Given the description of an element on the screen output the (x, y) to click on. 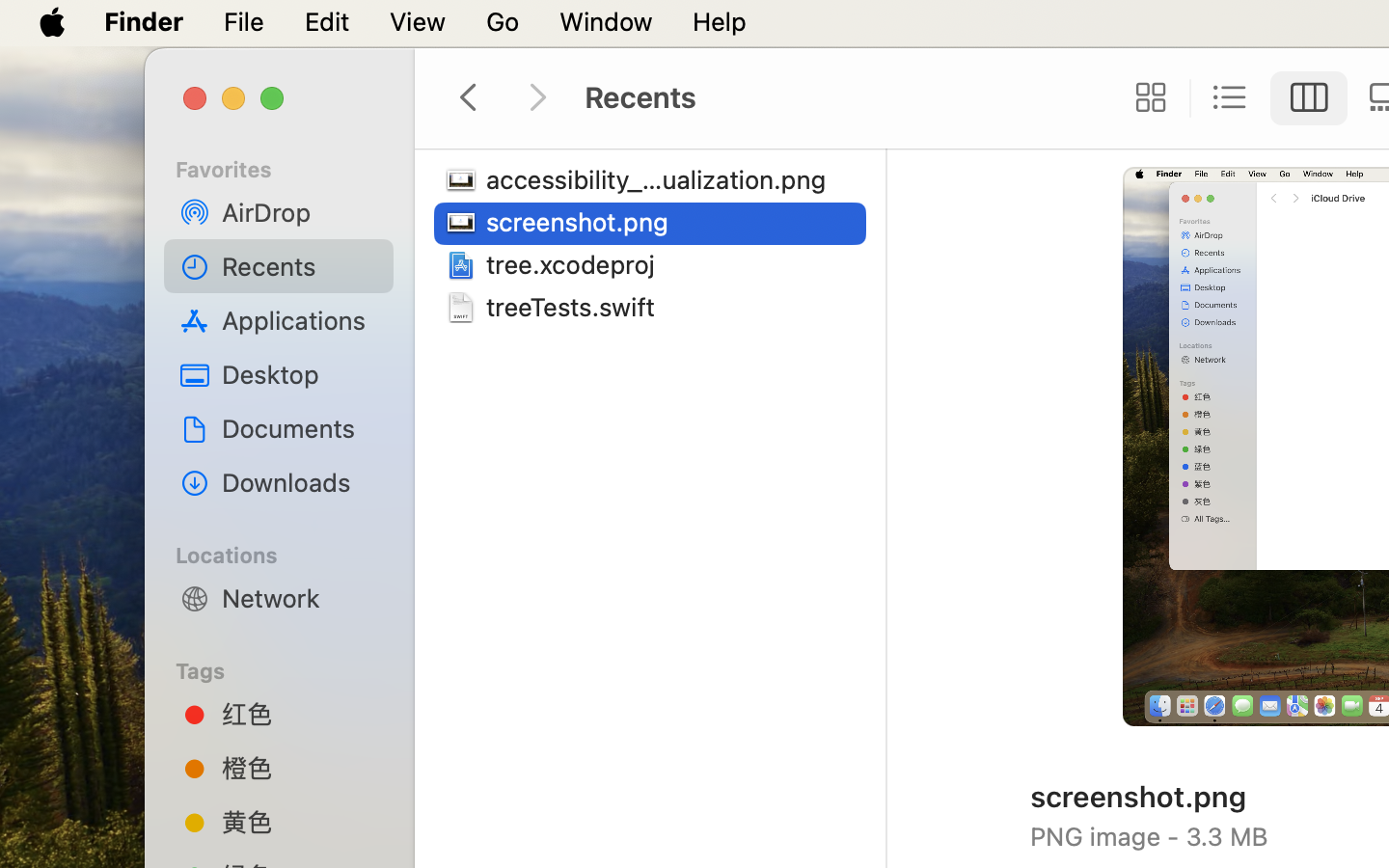
0 Element type: AXRadioButton (1144, 97)
Favorites Element type: AXStaticText (289, 166)
Recents Element type: AXStaticText (299, 265)
AirDrop Element type: AXStaticText (299, 211)
Desktop Element type: AXStaticText (299, 373)
